Given the description of an element on the screen output the (x, y) to click on. 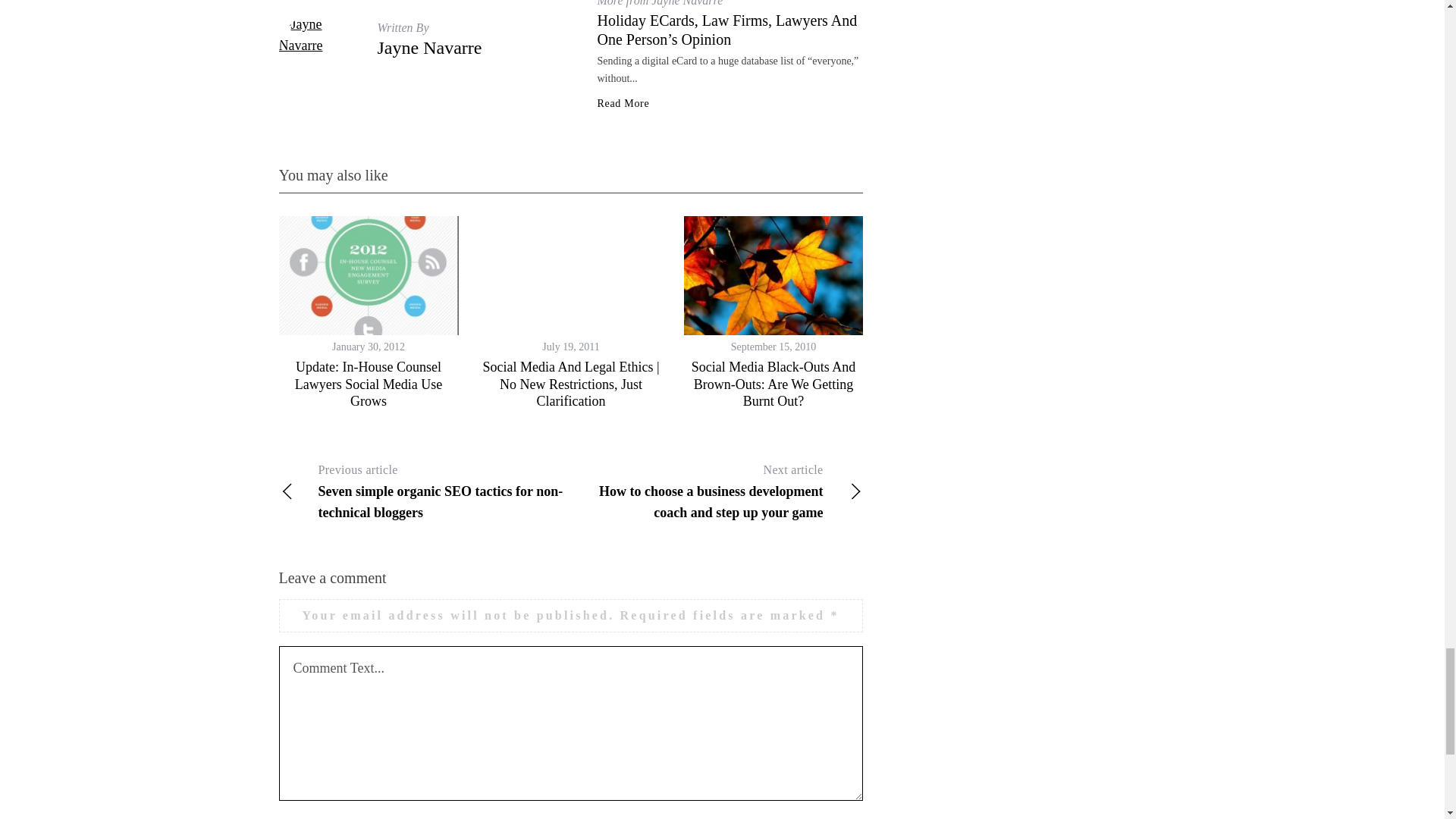
Jayne Navarre (429, 47)
Update: In-House Counsel Lawyers Social Media Use Grows (368, 383)
Read More (622, 103)
